Given the description of an element on the screen output the (x, y) to click on. 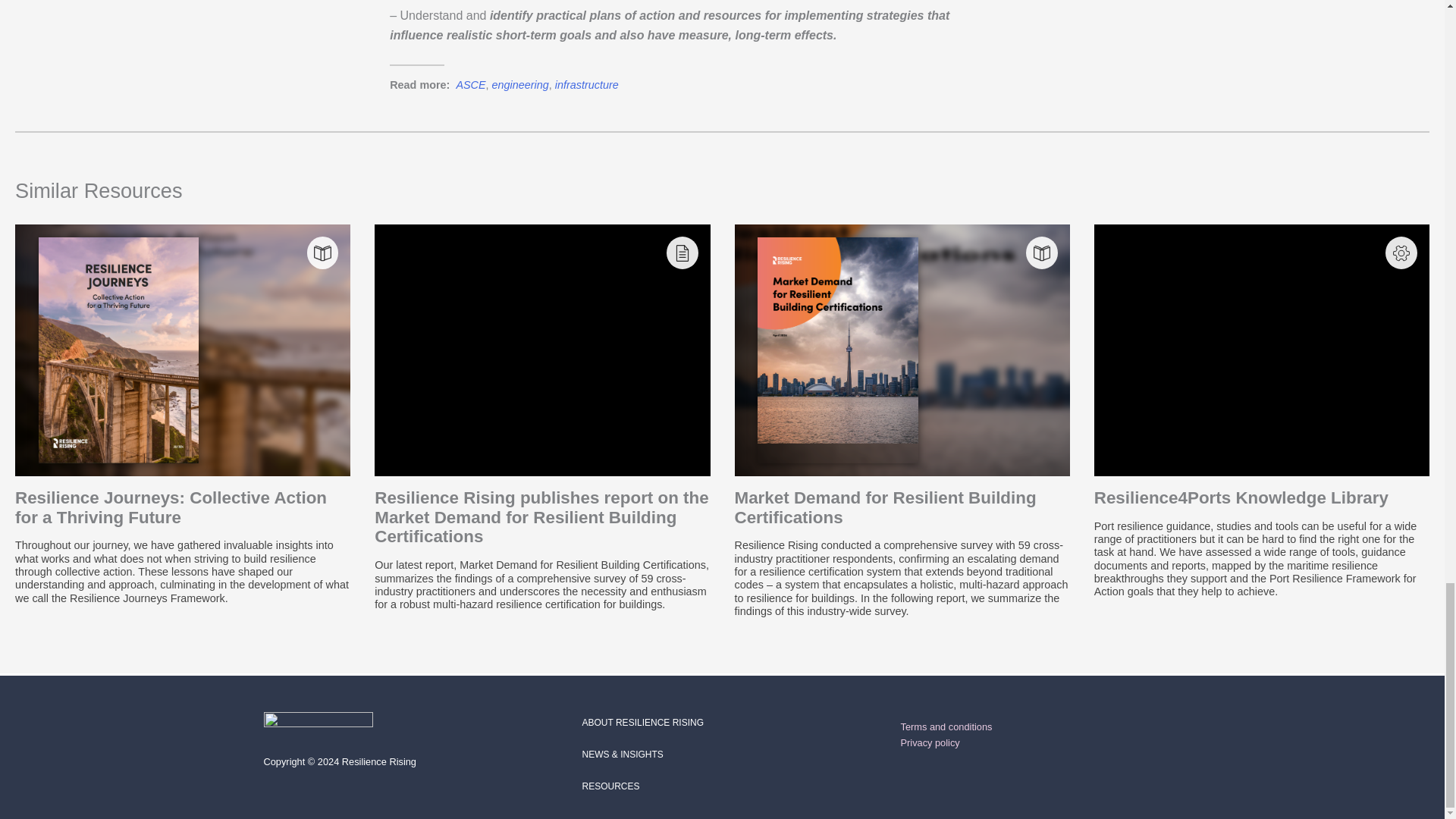
Terms and conditions (946, 726)
infrastructure (586, 84)
ABOUT RESILIENCE RISING (642, 722)
ASCE (469, 84)
RESOURCES (611, 786)
Privacy policy (930, 742)
engineering (520, 84)
